Given the description of an element on the screen output the (x, y) to click on. 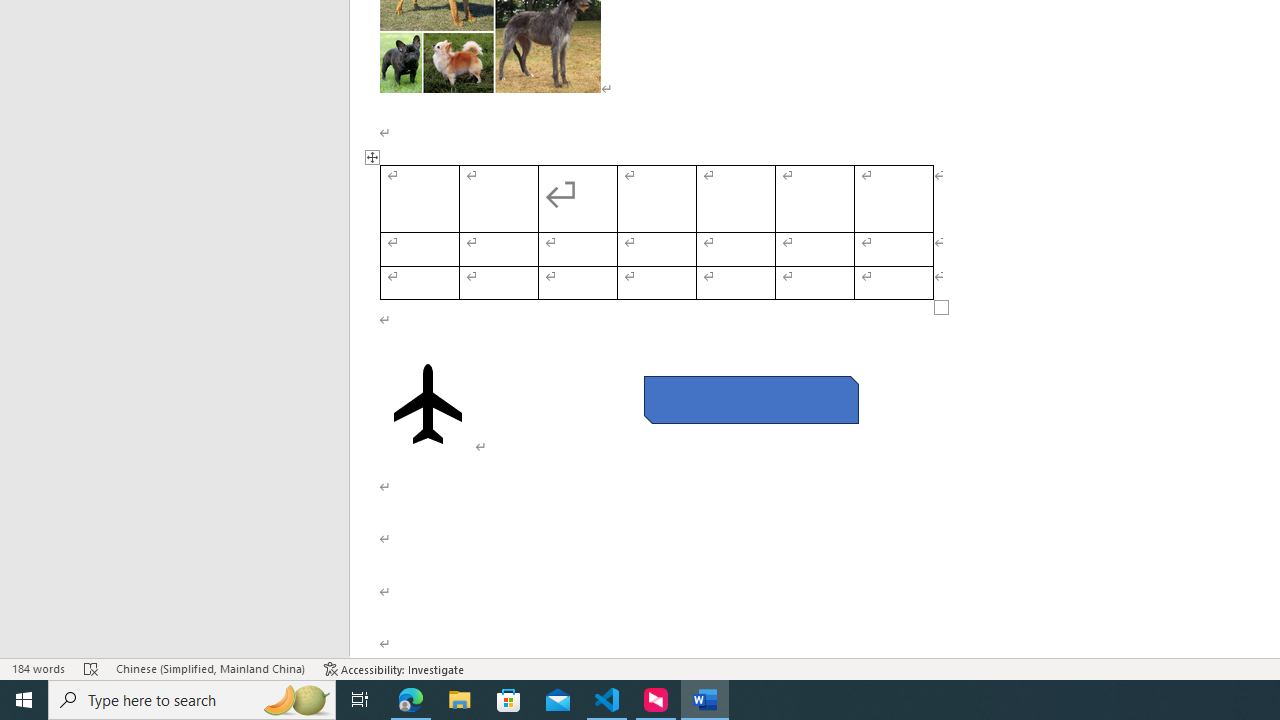
Accessibility Checker Accessibility: Investigate (394, 668)
Rectangle: Diagonal Corners Snipped 2 (750, 399)
Airplane with solid fill (428, 403)
Spelling and Grammar Check Errors (91, 668)
Word Count 184 words (37, 668)
Language Chinese (Simplified, Mainland China) (210, 668)
